Given the description of an element on the screen output the (x, y) to click on. 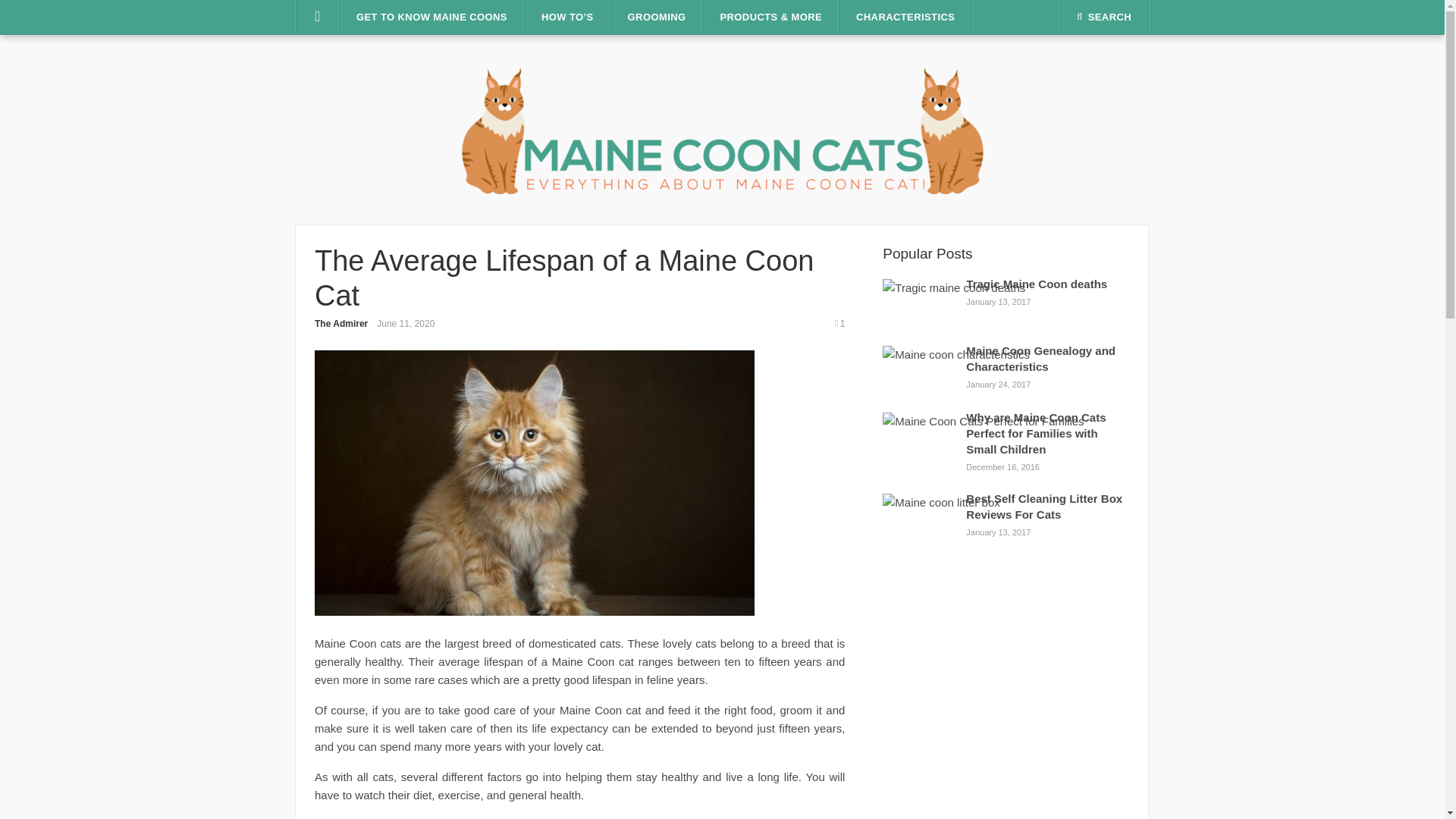
Maine Coon Admirer (722, 128)
GET TO KNOW MAINE COONS (431, 17)
GROOMING (657, 17)
